Given the description of an element on the screen output the (x, y) to click on. 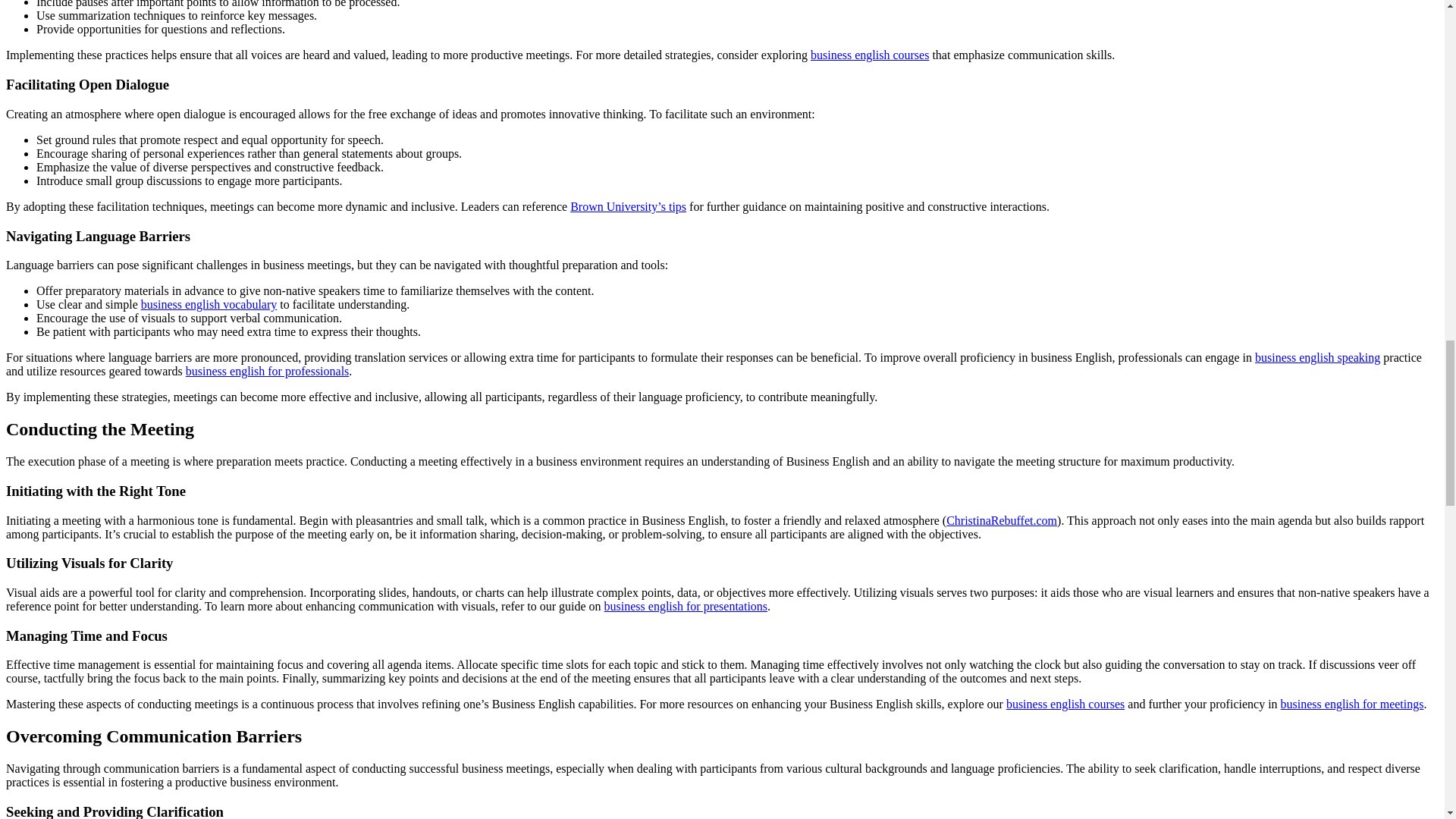
business english for professionals (267, 370)
business english speaking (1317, 357)
business english courses (869, 54)
business english vocabulary (209, 304)
